Given the description of an element on the screen output the (x, y) to click on. 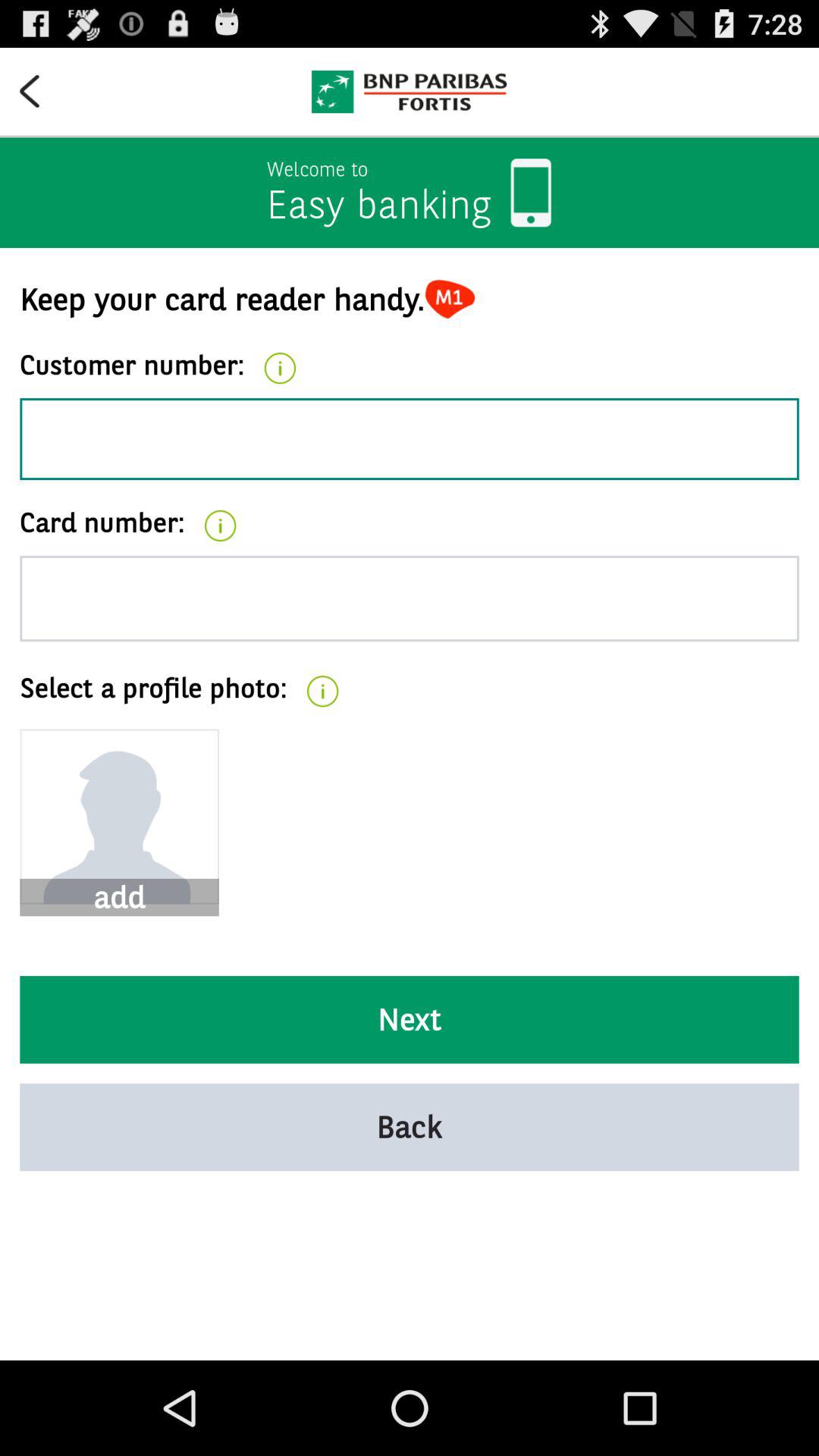
turn off next (409, 1019)
